Given the description of an element on the screen output the (x, y) to click on. 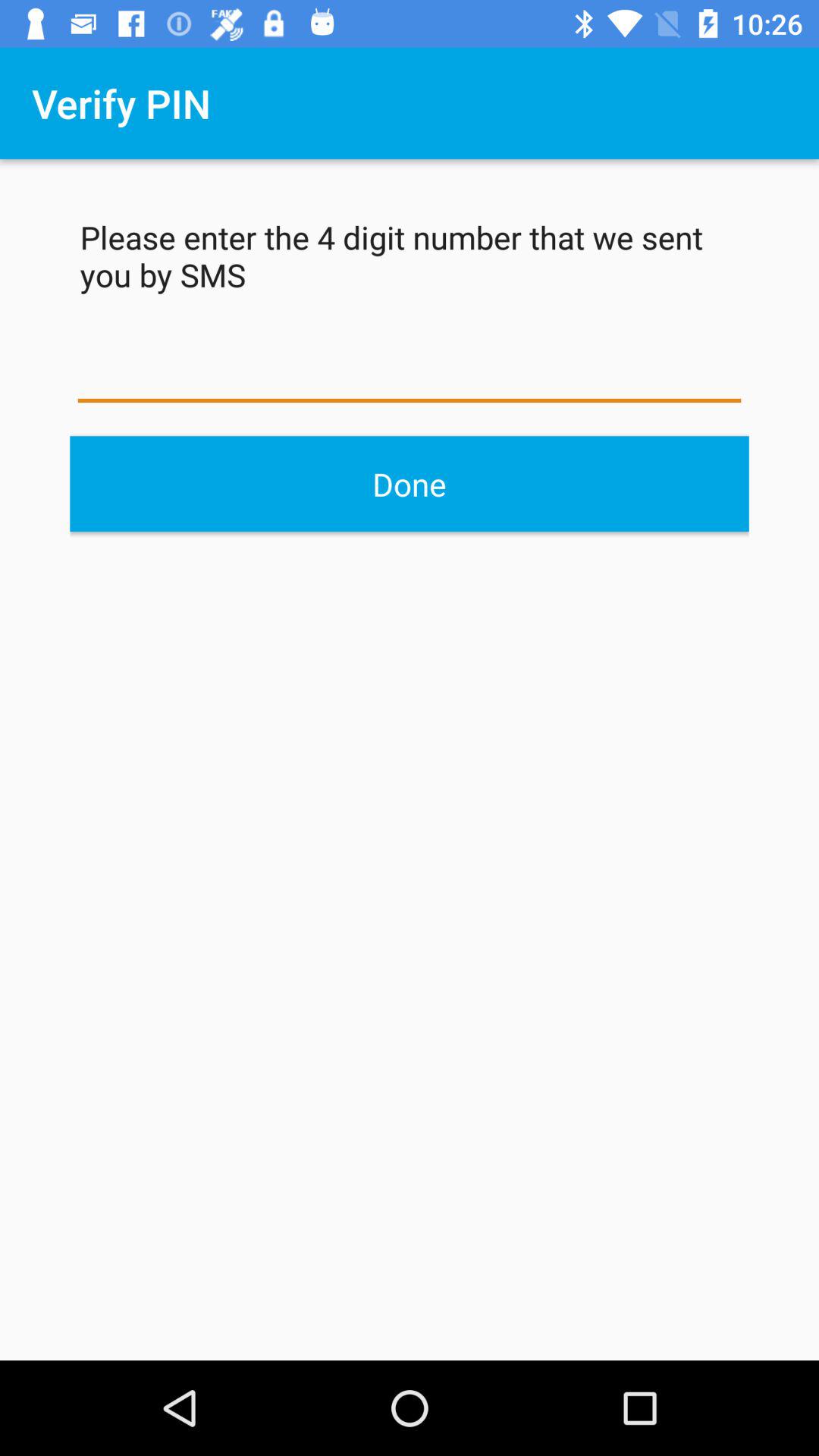
shows empty dash (409, 371)
